Given the description of an element on the screen output the (x, y) to click on. 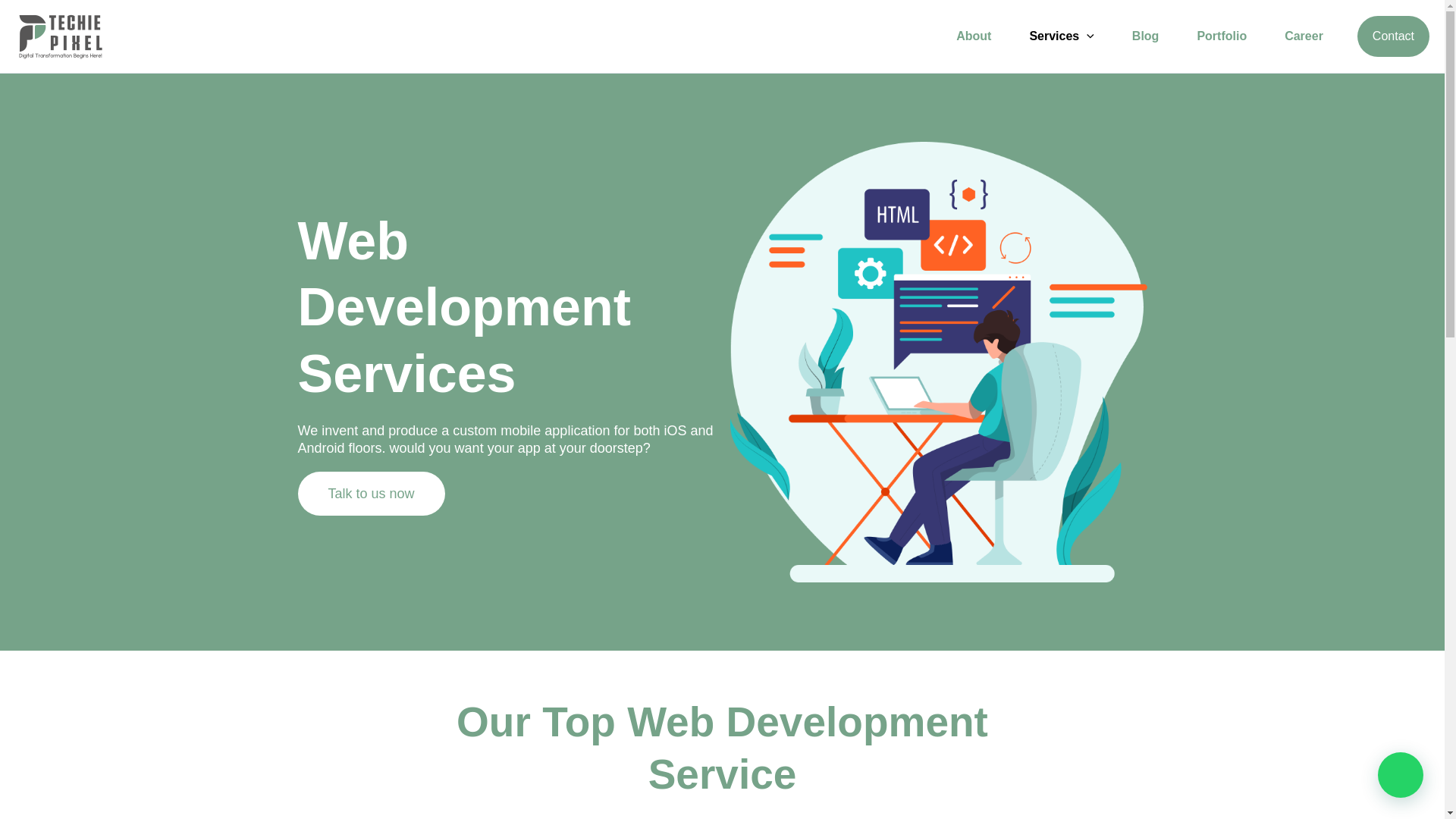
Portfolio (1221, 36)
Contact (1392, 35)
Talk to us now (370, 493)
Blog (1145, 36)
About (973, 36)
Career (1303, 36)
Services (1061, 36)
